Given the description of an element on the screen output the (x, y) to click on. 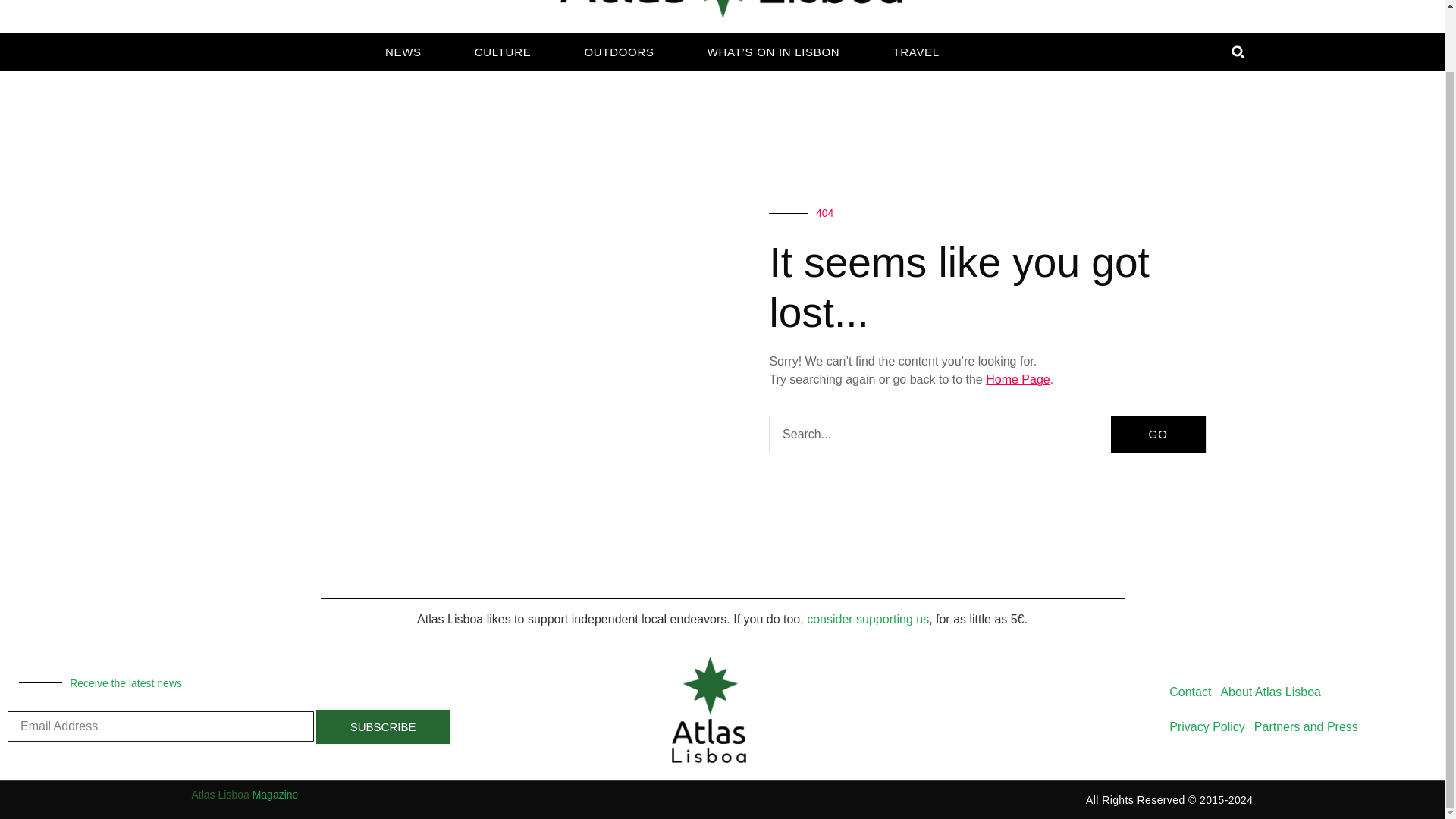
NEWS (403, 52)
TRAVEL (914, 52)
CULTURE (502, 52)
consider supporting us (867, 618)
About Atlas Lisboa (1269, 692)
OUTDOORS (618, 52)
Contact (1189, 692)
Partners and Press (1305, 727)
GO (1157, 434)
Privacy Policy (1206, 727)
SUBSCRIBE (382, 726)
